Given the description of an element on the screen output the (x, y) to click on. 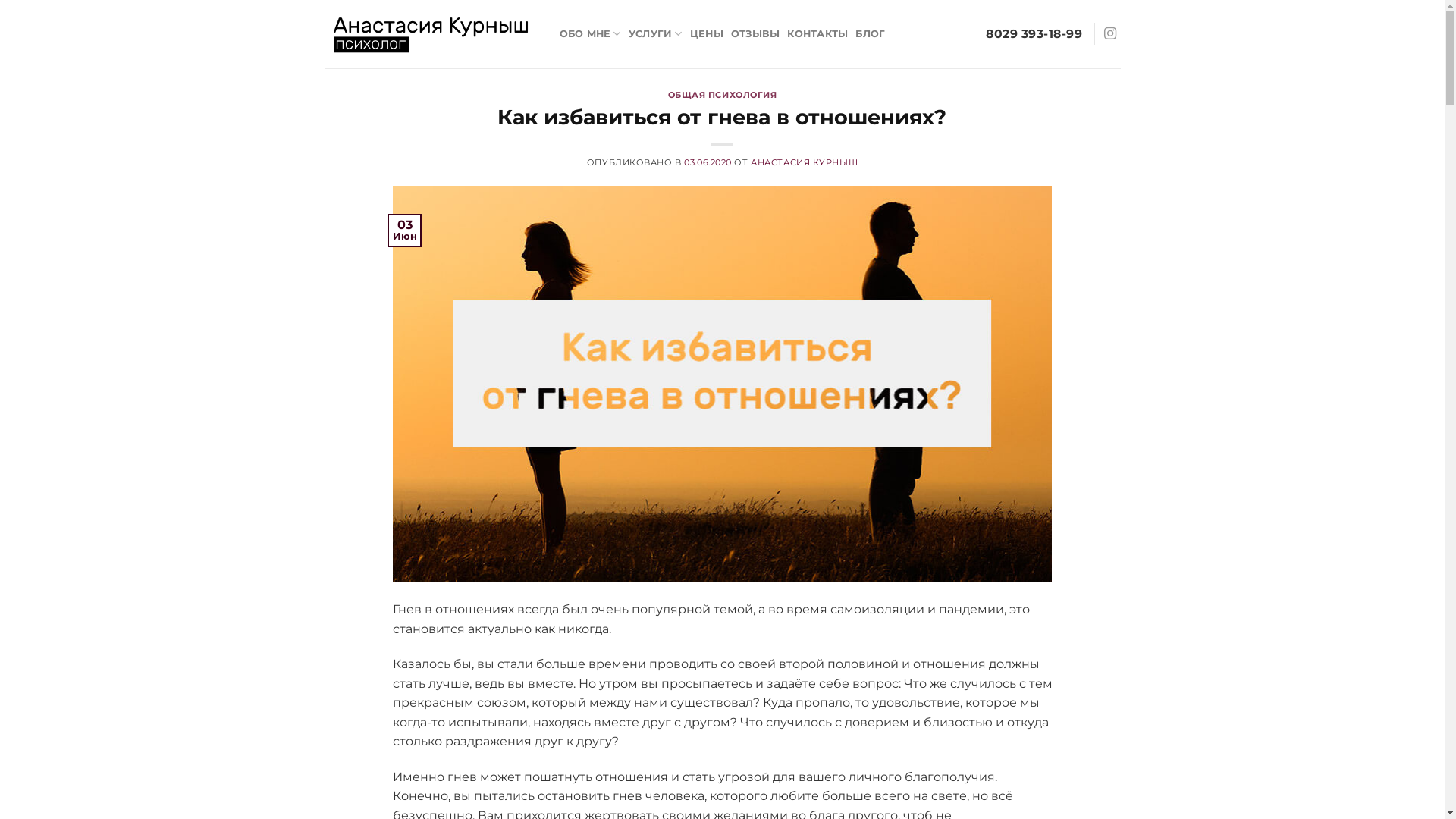
03.06.2020 Element type: text (707, 161)
8029 393-18-99 Element type: text (1033, 33)
Skip to content Element type: text (0, 0)
